Given the description of an element on the screen output the (x, y) to click on. 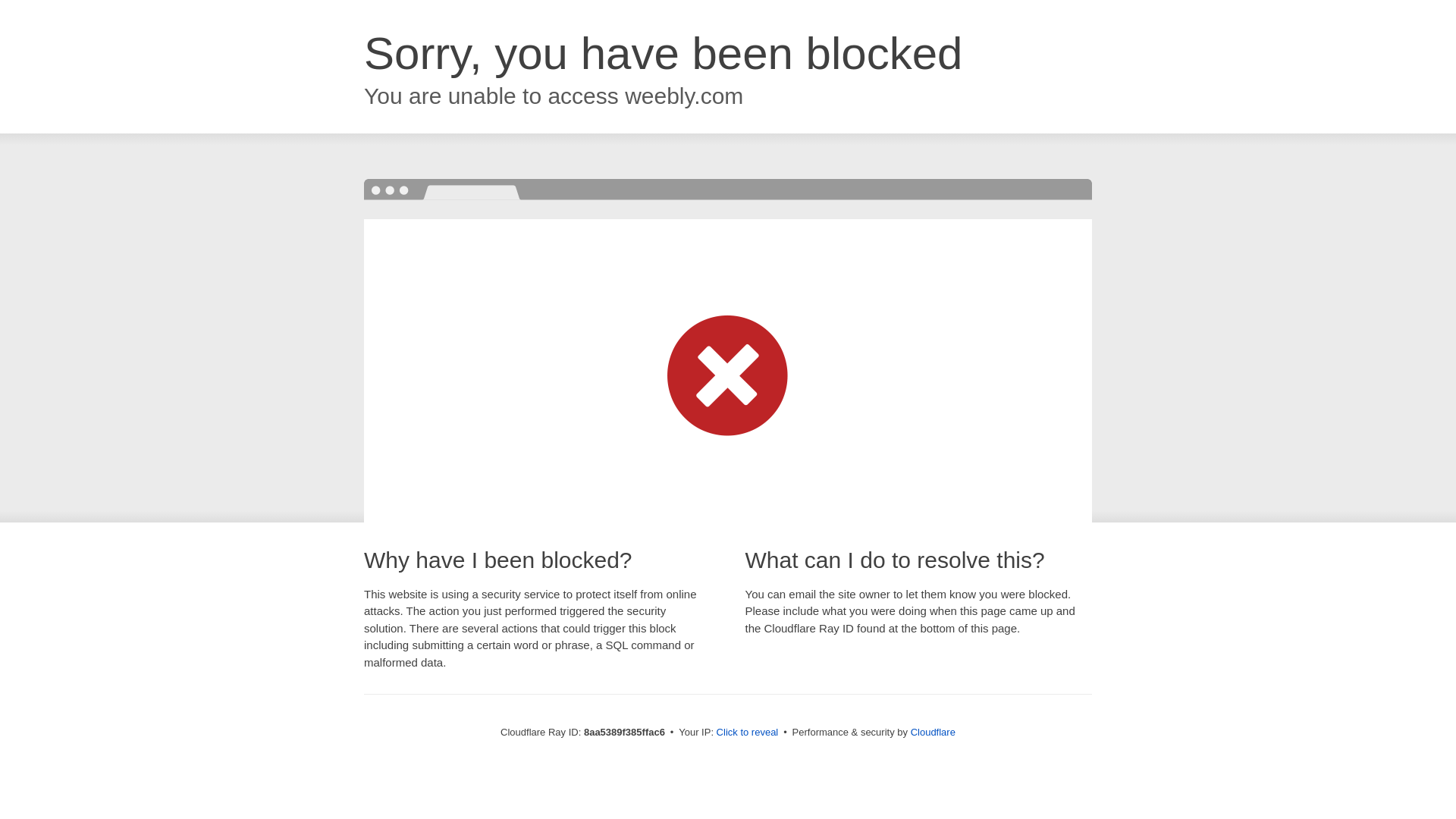
Cloudflare (933, 731)
Click to reveal (747, 732)
